Given the description of an element on the screen output the (x, y) to click on. 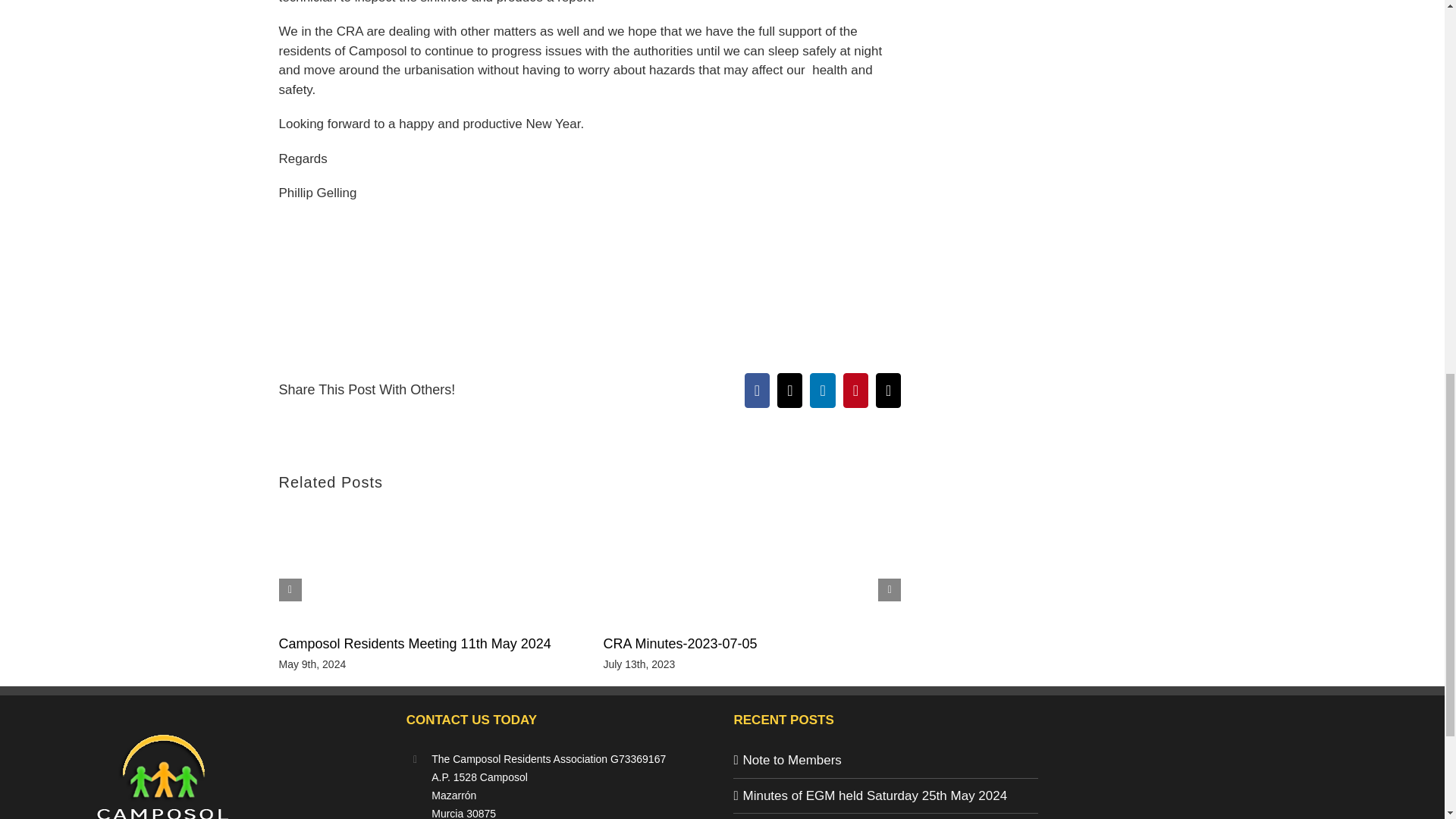
CRA Minutes-2023-07-05 (679, 643)
Camposol Residents Meeting 11th May 2024 (415, 643)
Camposol Residents Meeting 11th May 2024 (415, 643)
